Given the description of an element on the screen output the (x, y) to click on. 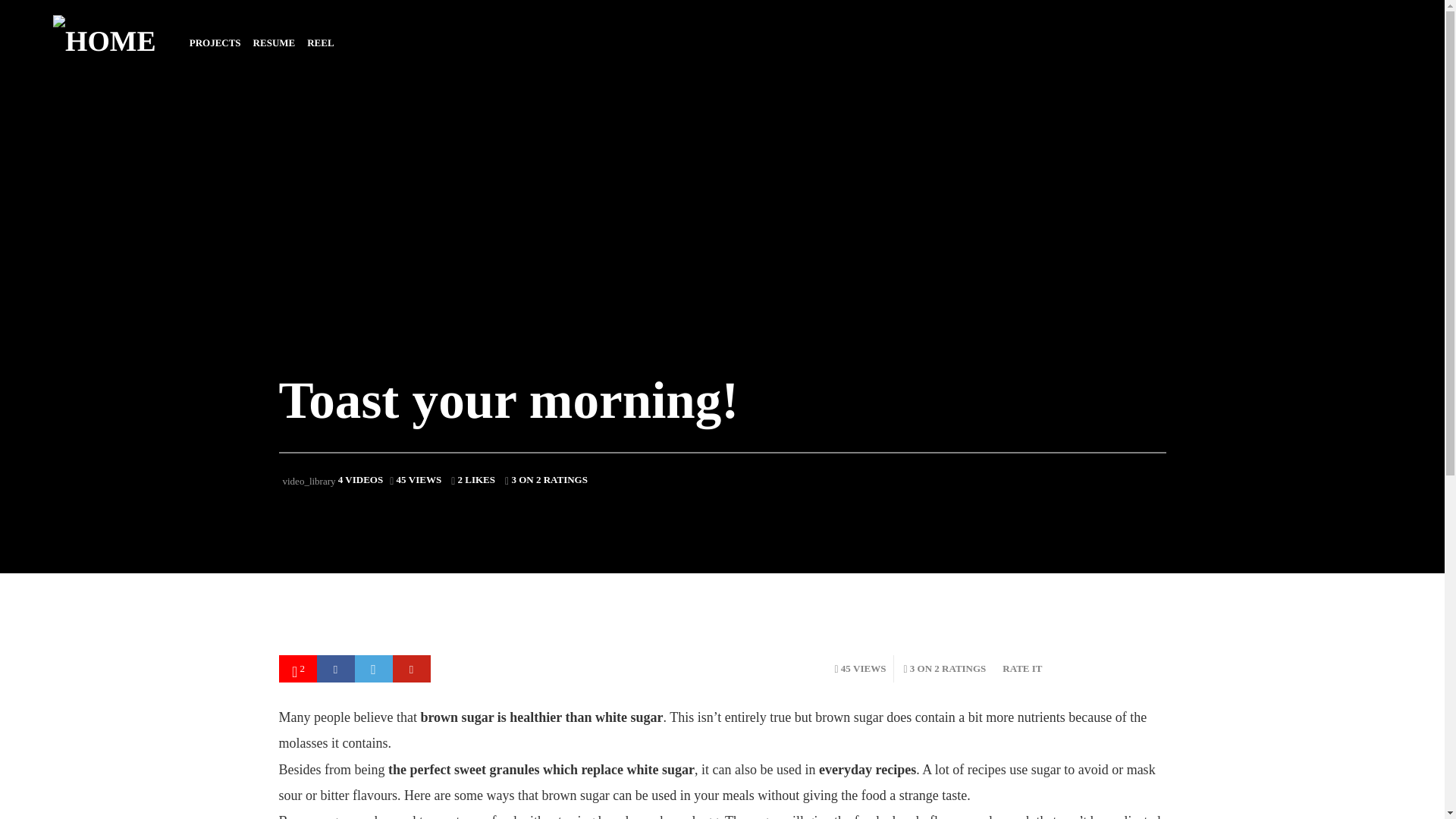
2 (298, 668)
RESUME (274, 42)
PROJECTS (215, 42)
